Given the description of an element on the screen output the (x, y) to click on. 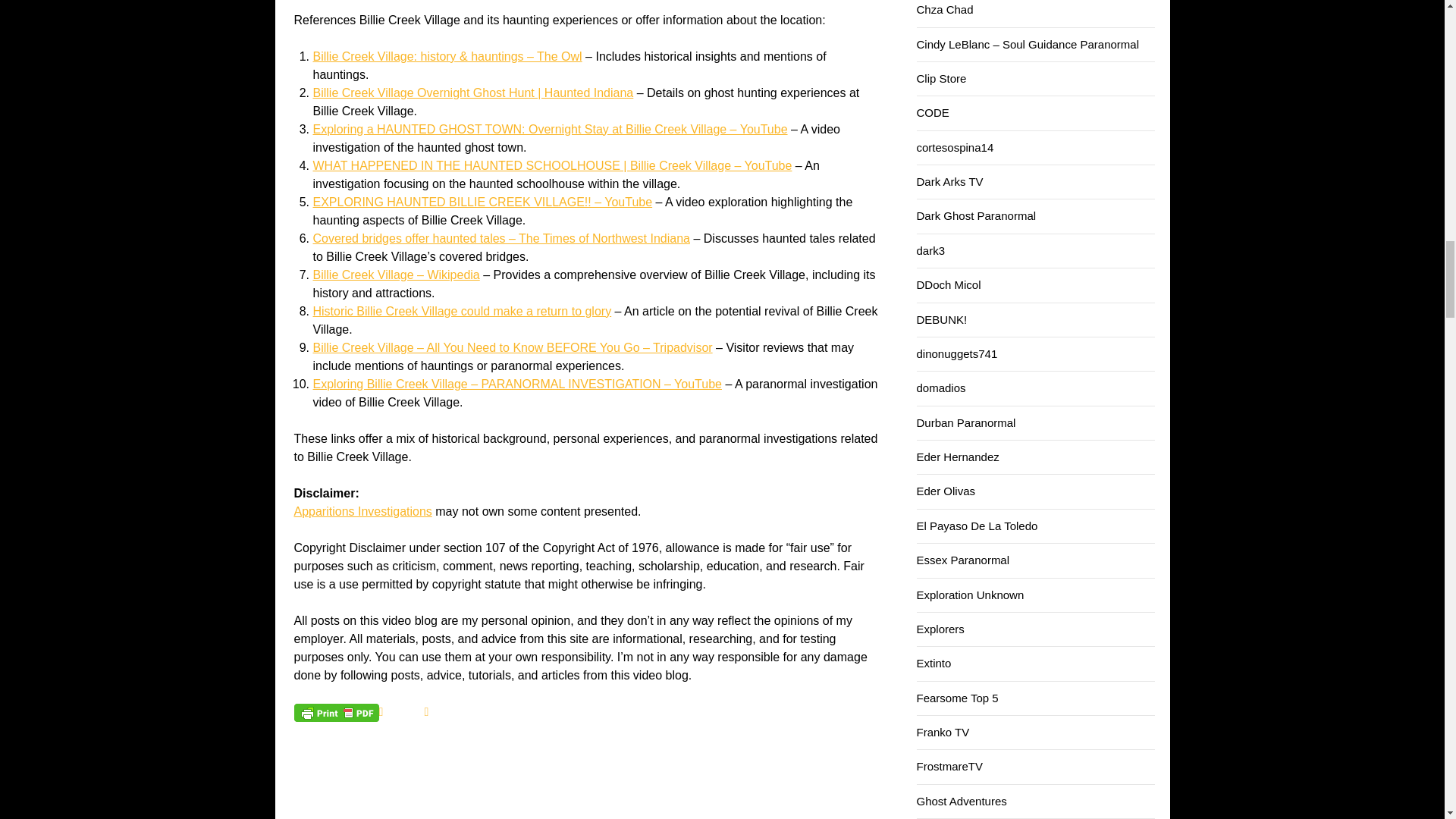
Apparitions Investigations (363, 511)
Historic Billie Creek Village could make a return to glory (462, 310)
Apparition Investigations seeks to answer "What was that?!" (363, 511)
